Given the description of an element on the screen output the (x, y) to click on. 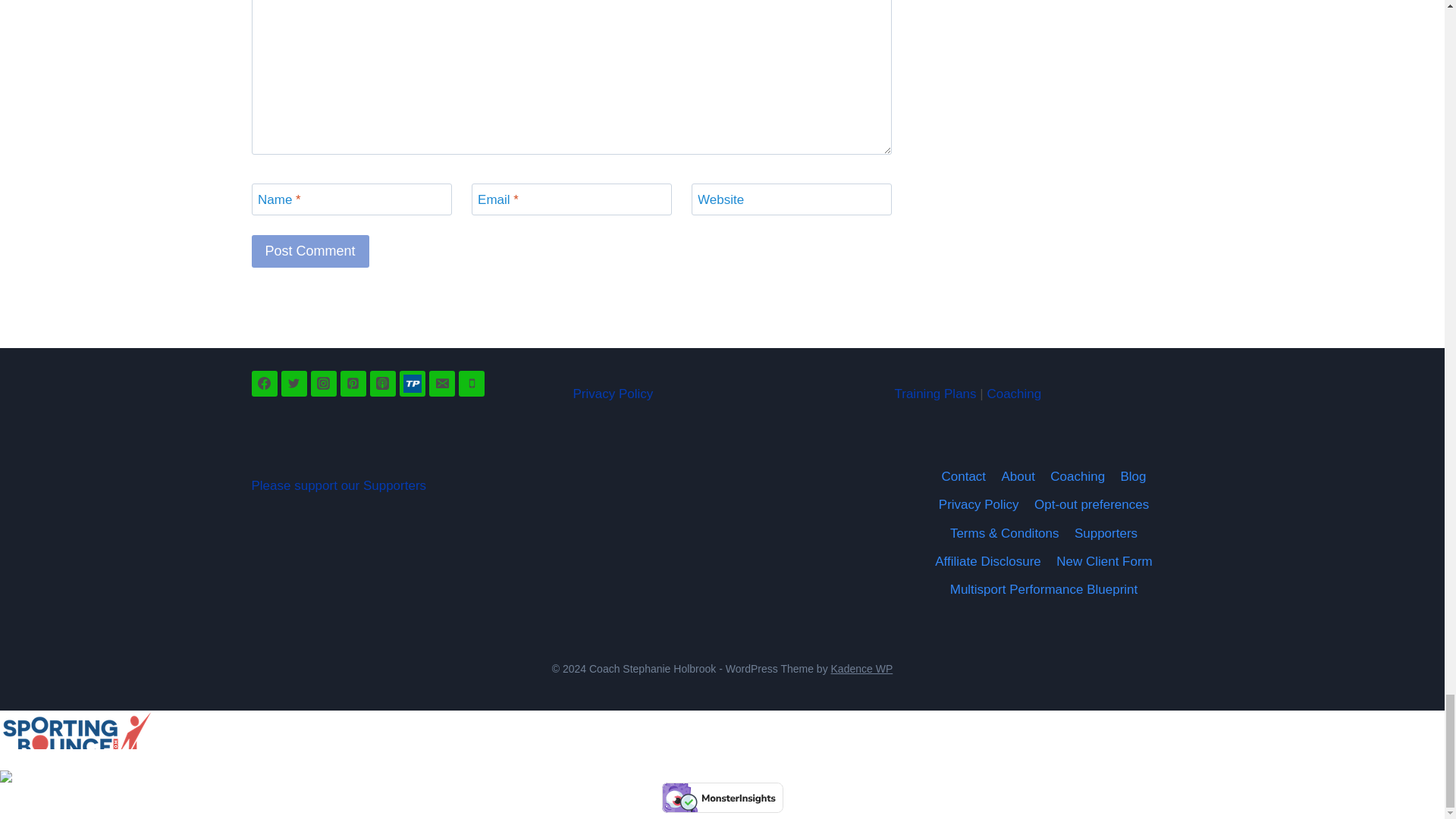
Verified by MonsterInsights (722, 797)
Post Comment (310, 251)
